Given the description of an element on the screen output the (x, y) to click on. 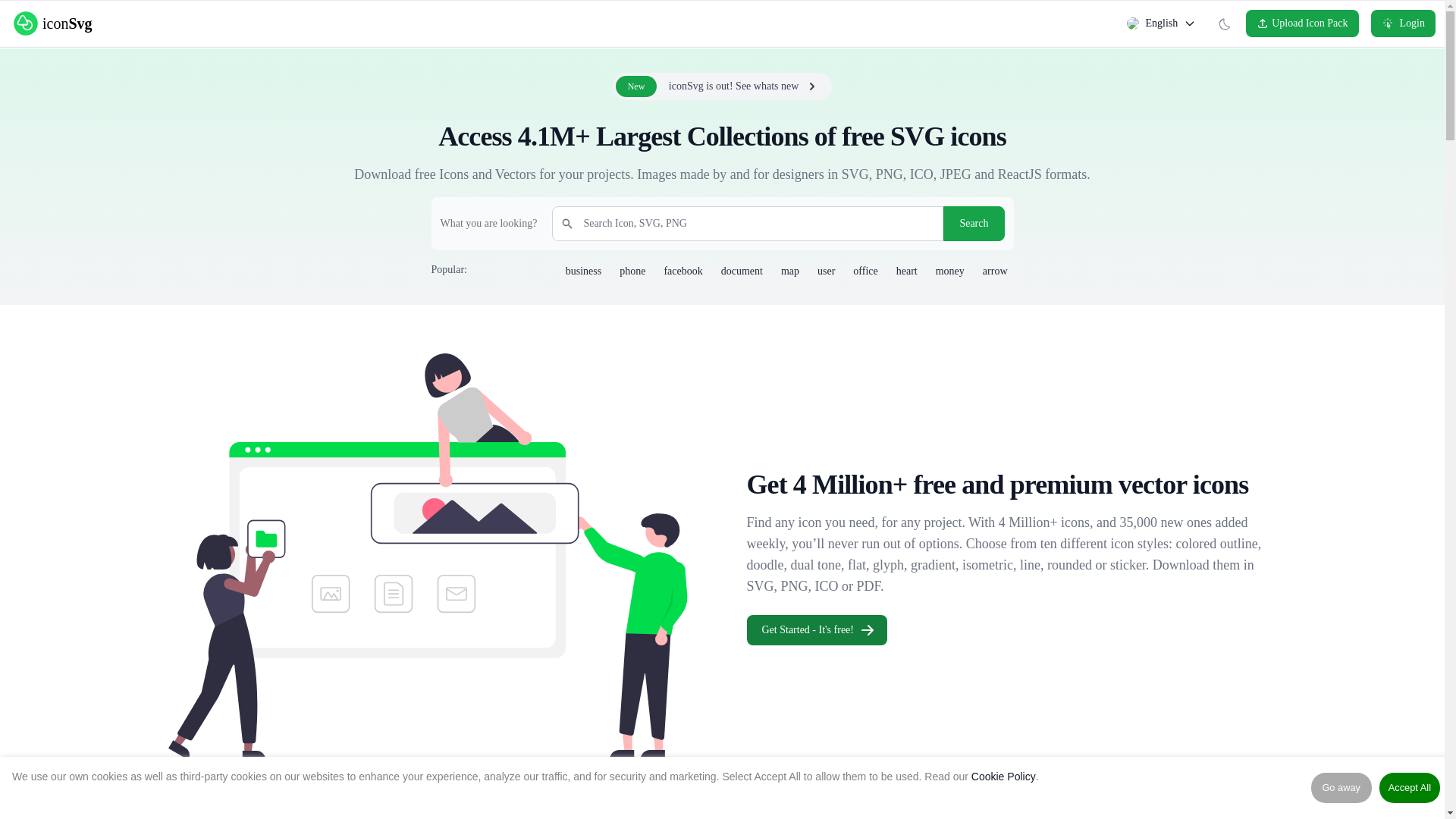
phone (631, 271)
business (583, 271)
Search (973, 223)
facebook (682, 271)
heart (906, 271)
Login (1403, 22)
Cookie Policy (1003, 776)
Accept All (1408, 788)
Go away (1341, 788)
map (722, 85)
map (789, 271)
facebook (789, 271)
user (682, 271)
English (825, 271)
